Given the description of an element on the screen output the (x, y) to click on. 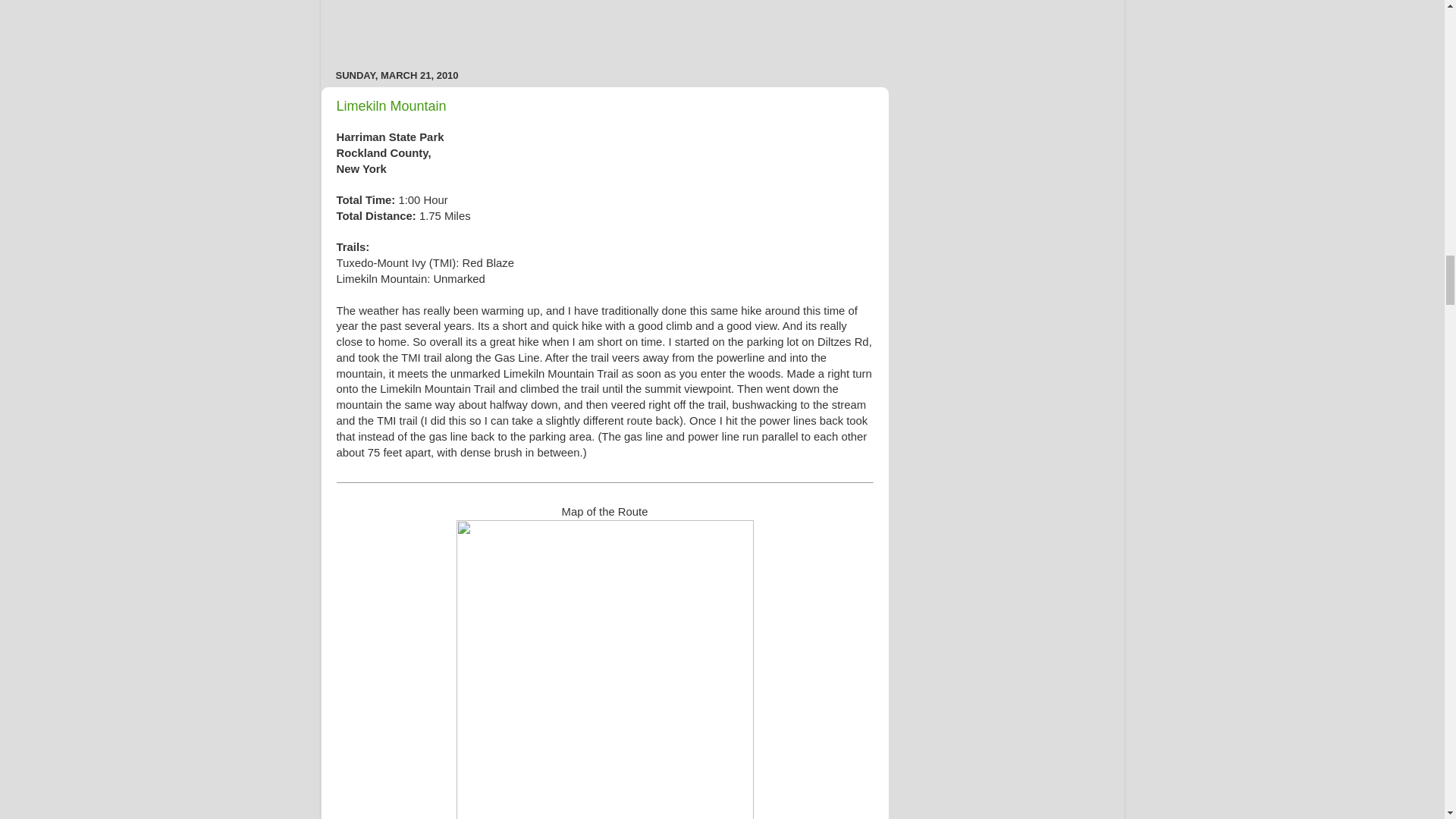
Limekiln Mountain (391, 105)
